Given the description of an element on the screen output the (x, y) to click on. 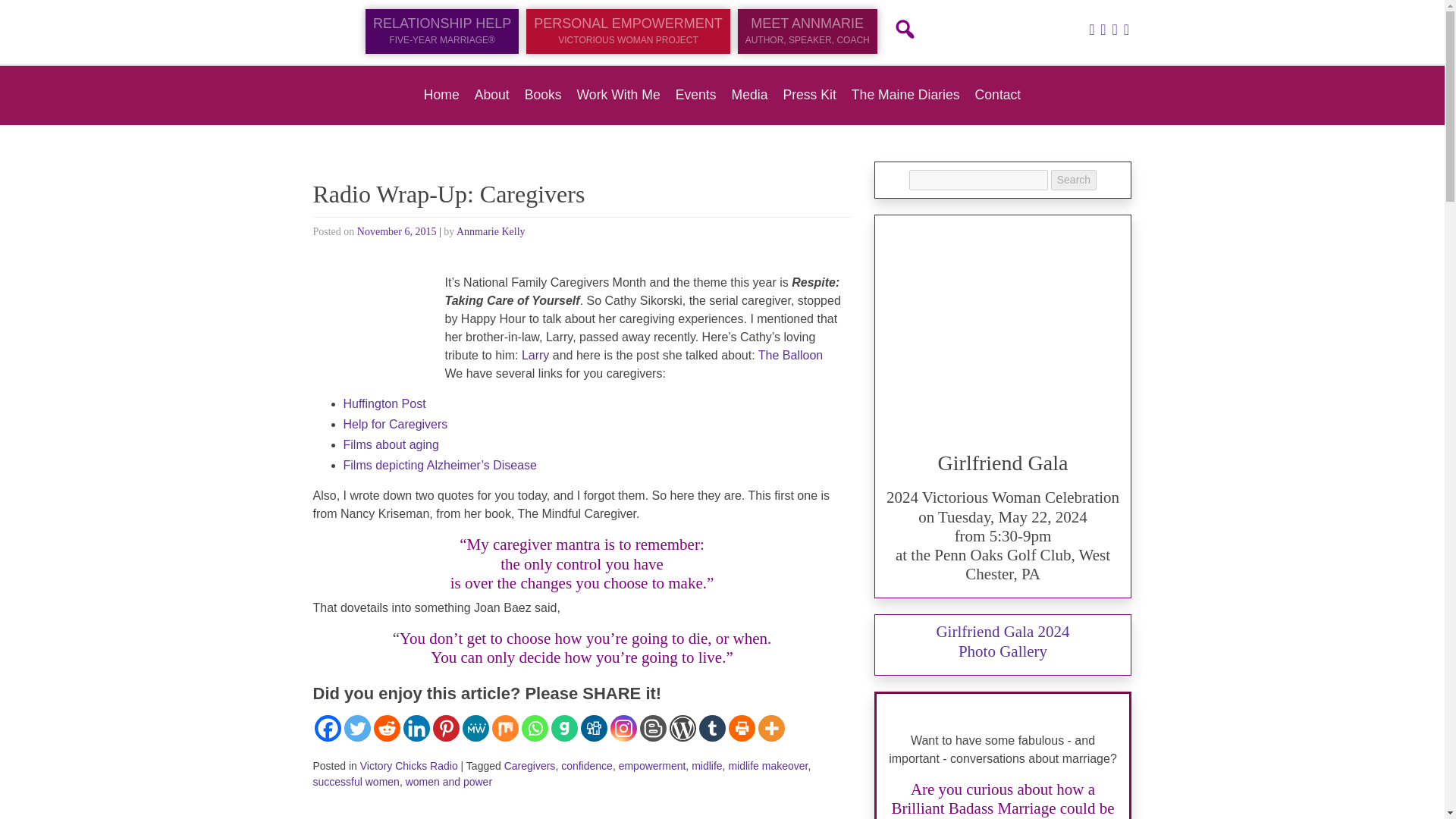
Blogger Post (653, 728)
Books (543, 94)
Help for Caregivers (394, 423)
Reddit (385, 728)
Films about aging (390, 444)
Annmarie Kelly (491, 231)
MeWe (476, 728)
The Balloon (790, 354)
Digg (593, 728)
Mix (505, 728)
